Given the description of an element on the screen output the (x, y) to click on. 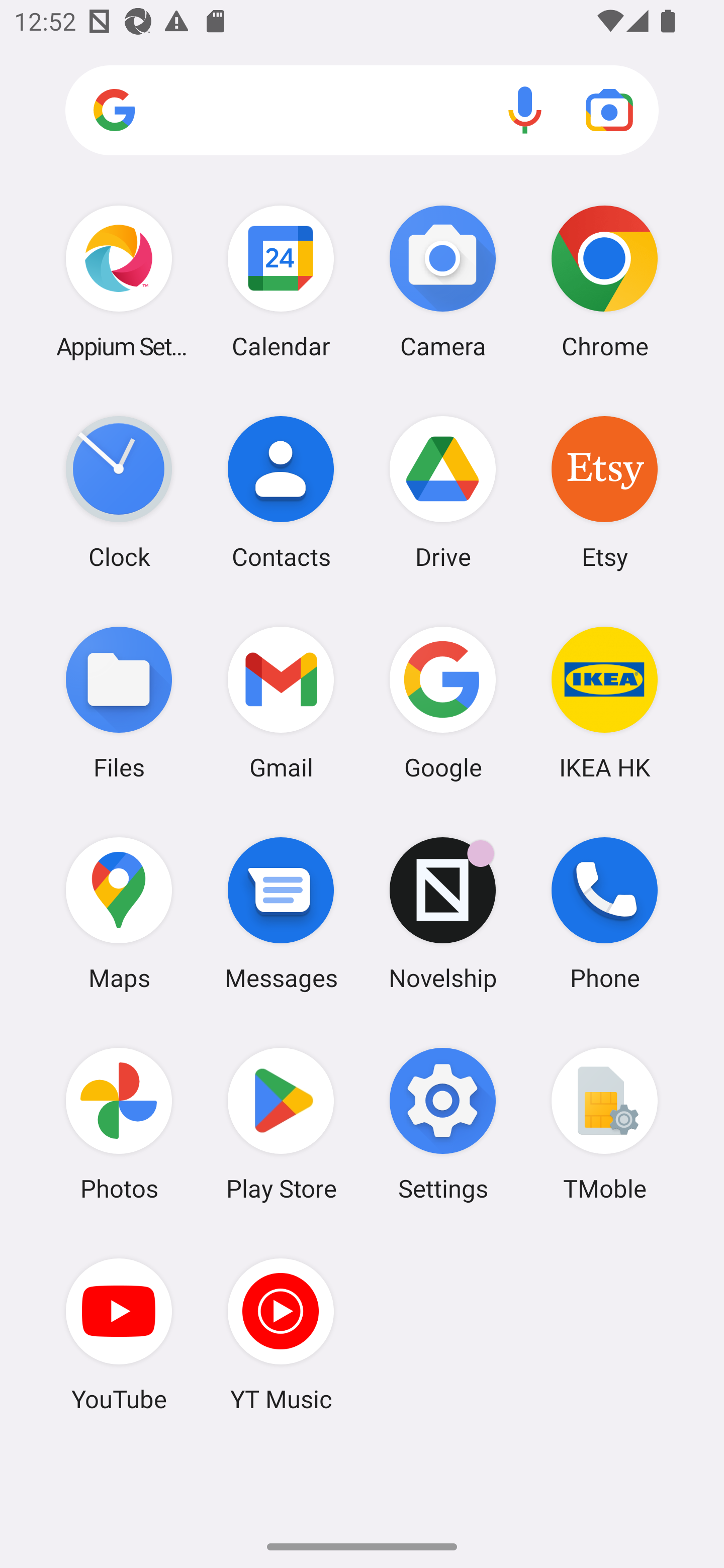
Search apps, web and more (361, 110)
Voice search (524, 109)
Google Lens (608, 109)
Appium Settings (118, 281)
Calendar (280, 281)
Camera (443, 281)
Chrome (604, 281)
Clock (118, 492)
Contacts (280, 492)
Drive (443, 492)
Etsy (604, 492)
Files (118, 702)
Gmail (280, 702)
Google (443, 702)
IKEA HK (604, 702)
Maps (118, 913)
Messages (280, 913)
Novelship Novelship has 7 notifications (443, 913)
Phone (604, 913)
Photos (118, 1124)
Play Store (280, 1124)
Settings (443, 1124)
TMoble (604, 1124)
YouTube (118, 1334)
YT Music (280, 1334)
